Given the description of an element on the screen output the (x, y) to click on. 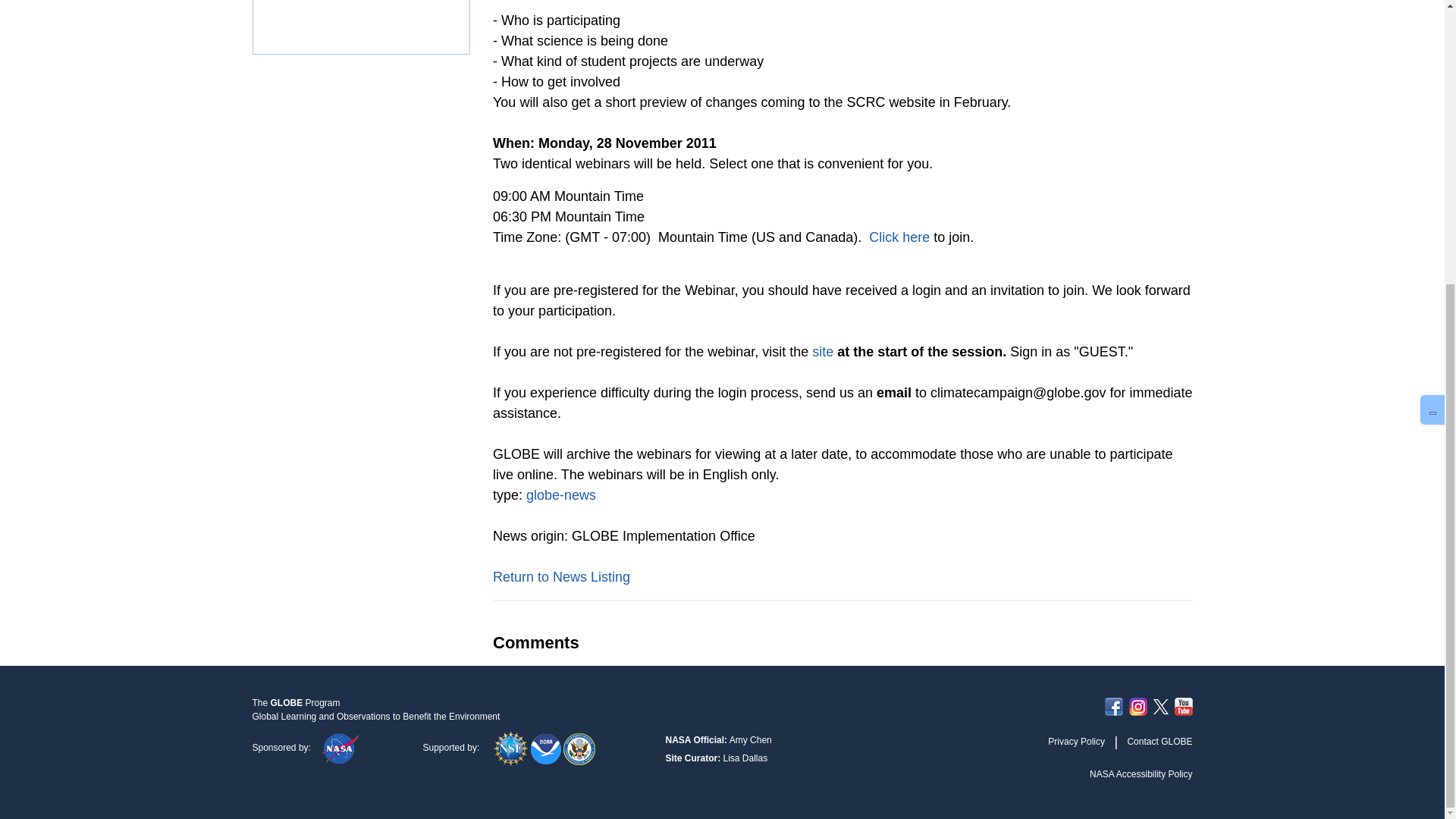
U.S. Department of State (579, 747)
National Science Foundation (512, 747)
National Oceanic and Atmospheric Administration (547, 747)
National Aeronautics and Space Administration (339, 747)
